Given the description of an element on the screen output the (x, y) to click on. 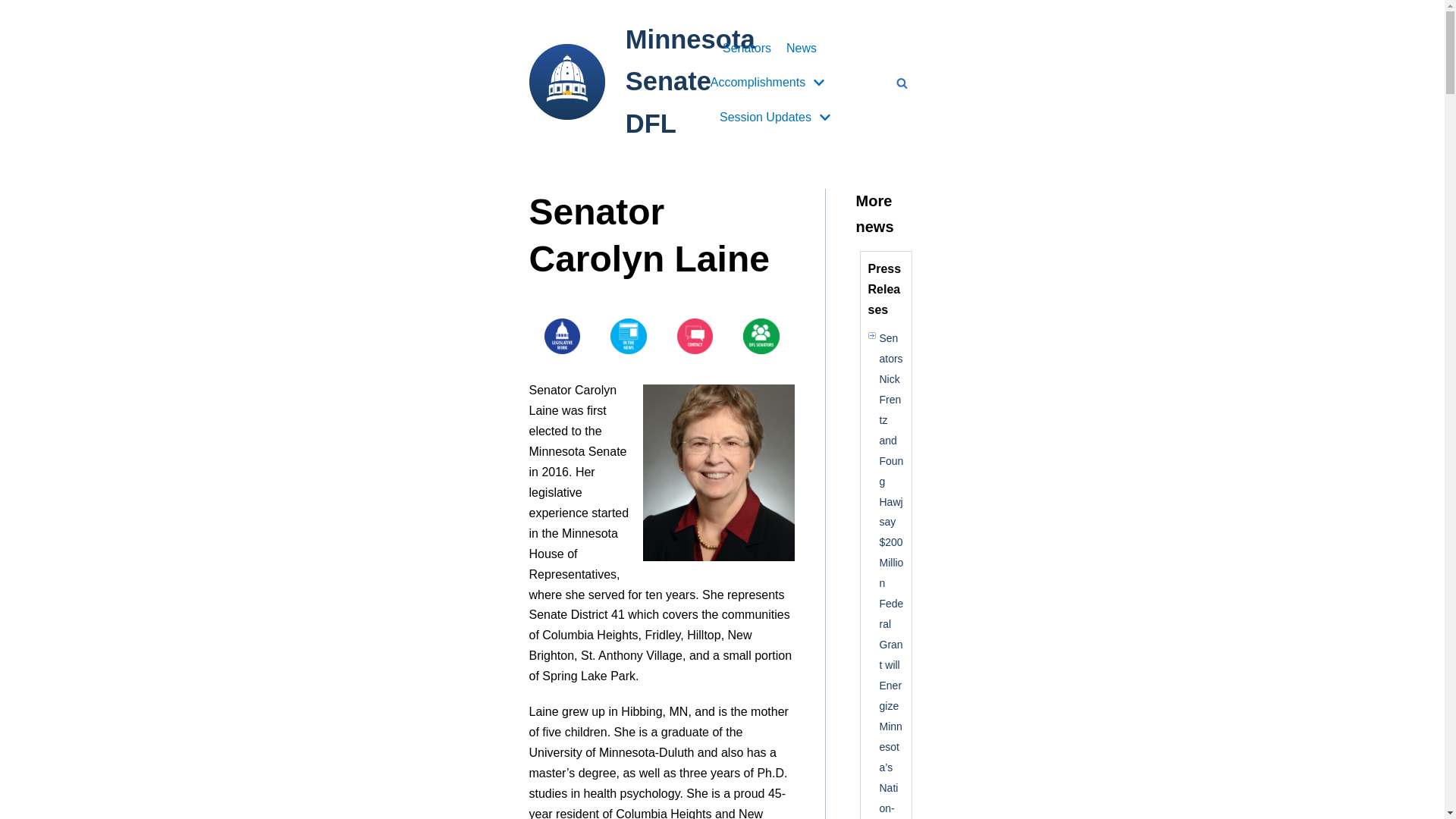
Minnesota Senate DFL (642, 78)
Session Updates (776, 117)
Accomplishments (769, 82)
Skip to content (15, 7)
Senators (746, 48)
Minnesota Senate DFL (642, 78)
News (801, 48)
